Given the description of an element on the screen output the (x, y) to click on. 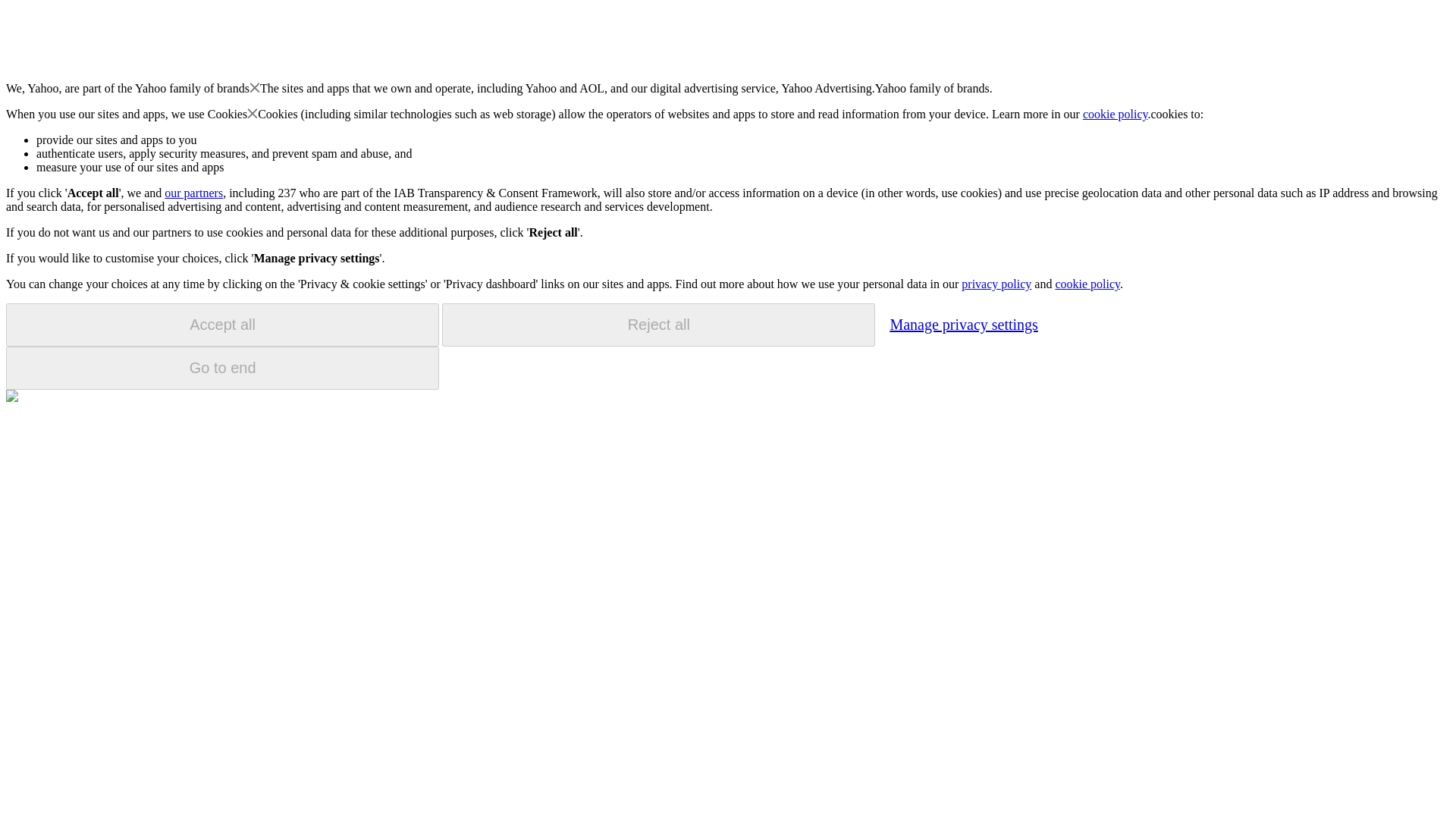
Accept all (222, 324)
Go to end (222, 367)
our partners (193, 192)
Manage privacy settings (963, 323)
Reject all (658, 324)
cookie policy (1086, 283)
cookie policy (1115, 113)
privacy policy (995, 283)
